Given the description of an element on the screen output the (x, y) to click on. 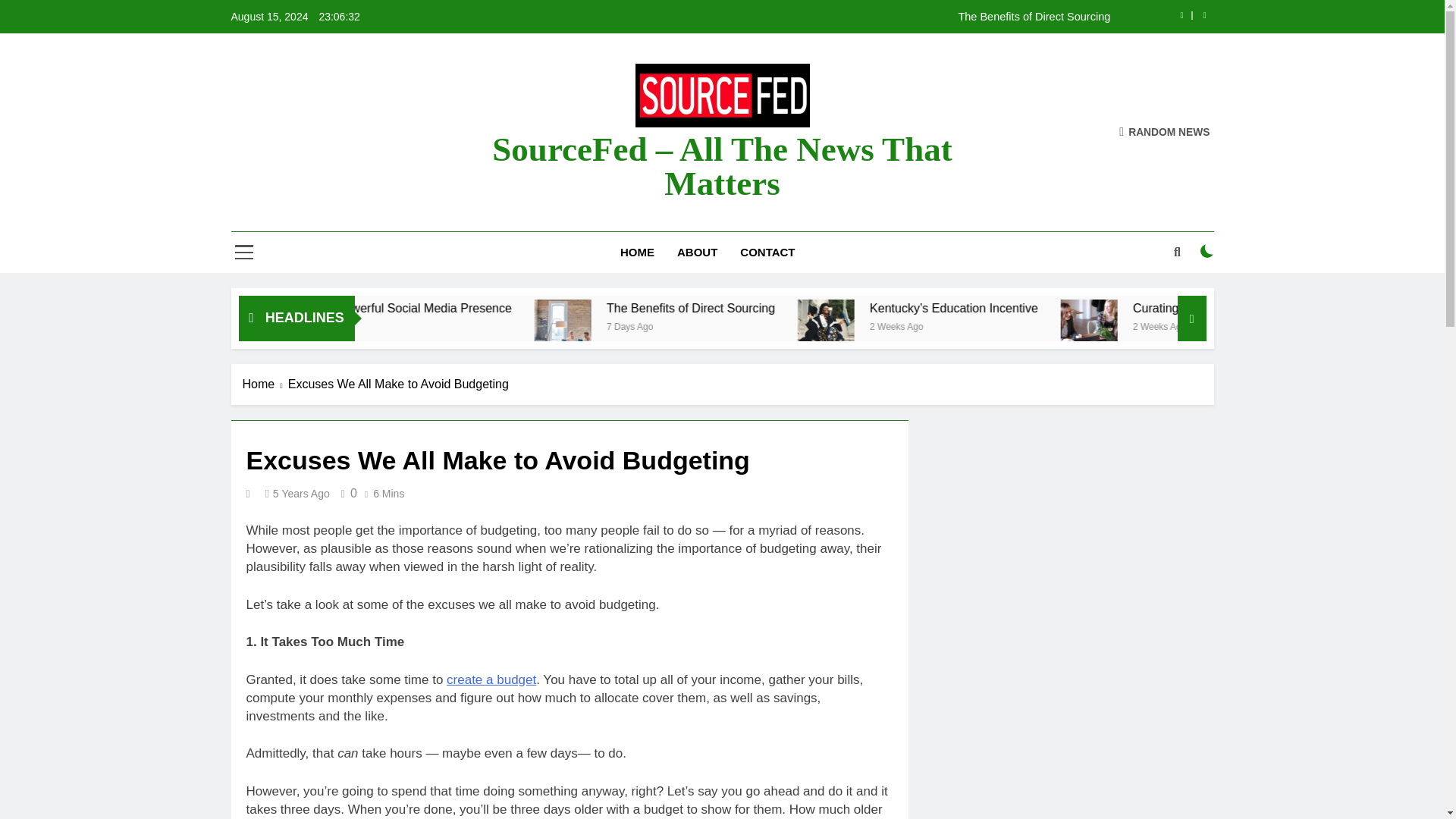
The Benefits of Direct Sourcing (703, 327)
The Benefits of Direct Sourcing (927, 308)
The Benefits of Direct Sourcing (706, 327)
2 Weeks Ago (1110, 325)
4 Days Ago (398, 325)
RANDOM NEWS (1164, 131)
The Benefits of Direct Sourcing (828, 308)
ABOUT (697, 251)
CONTACT (767, 251)
